Given the description of an element on the screen output the (x, y) to click on. 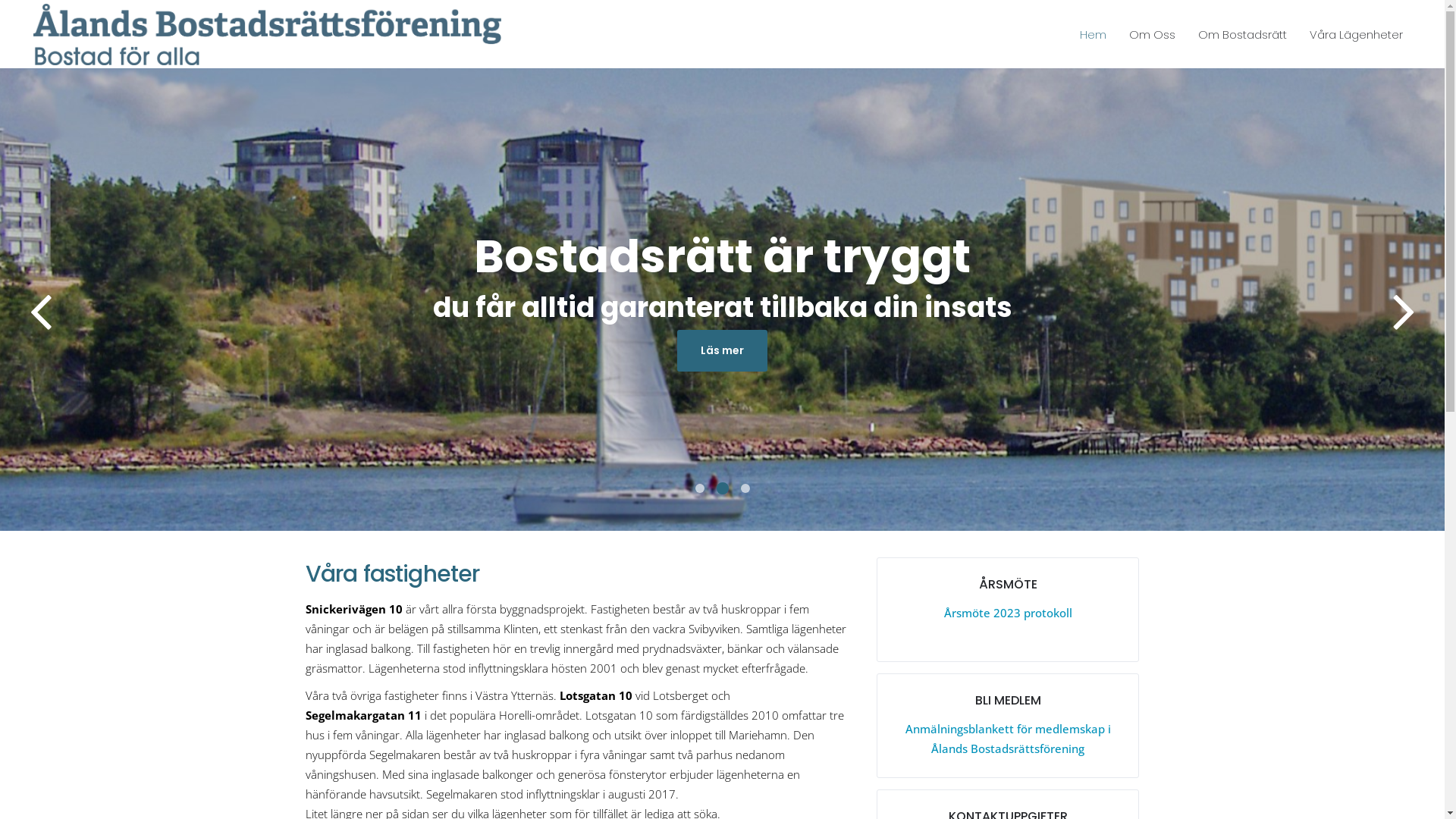
Hem Element type: text (1092, 34)
Om Oss Element type: text (1151, 34)
